Given the description of an element on the screen output the (x, y) to click on. 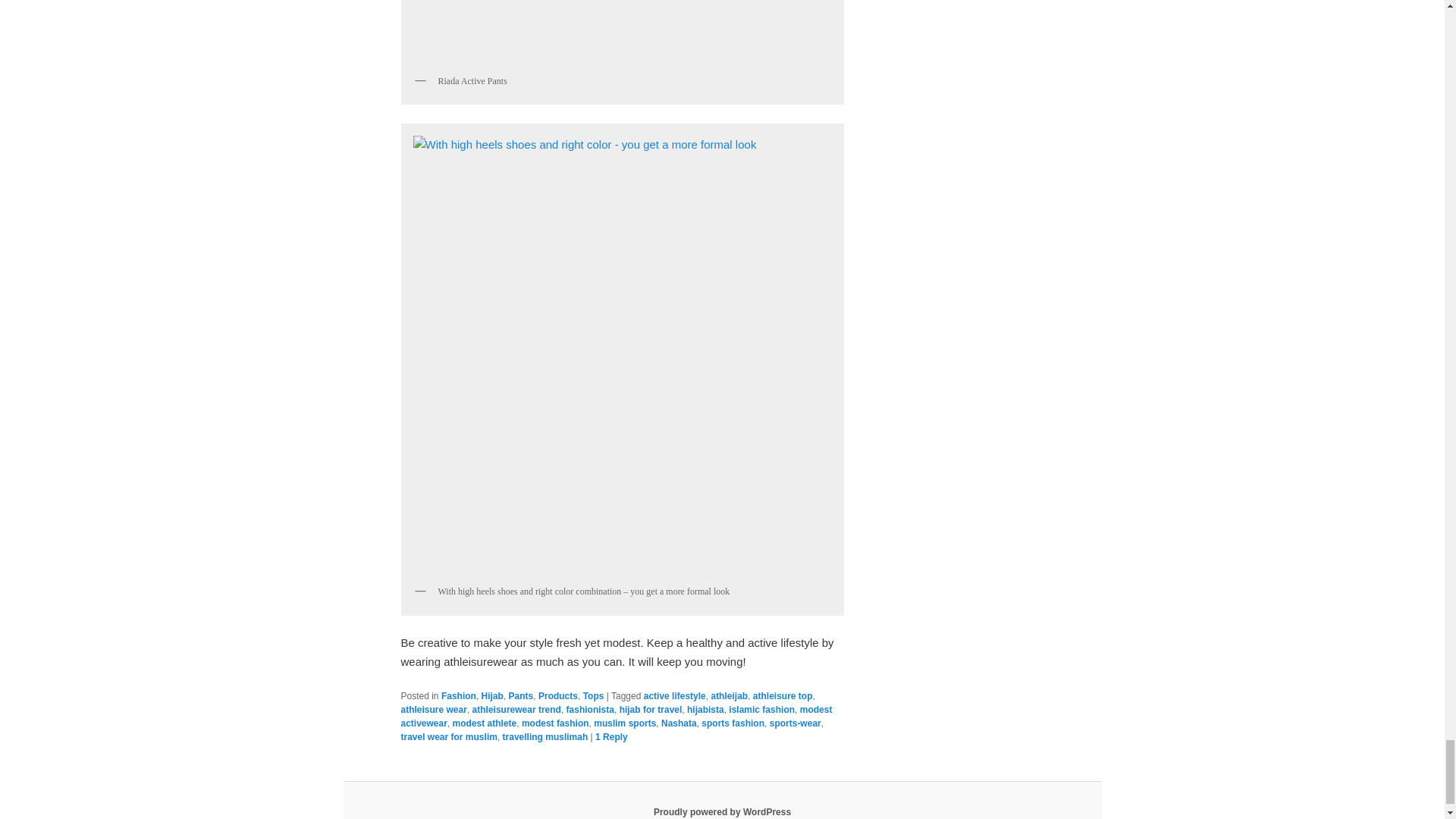
Semantic Personal Publishing Platform (721, 810)
